Given the description of an element on the screen output the (x, y) to click on. 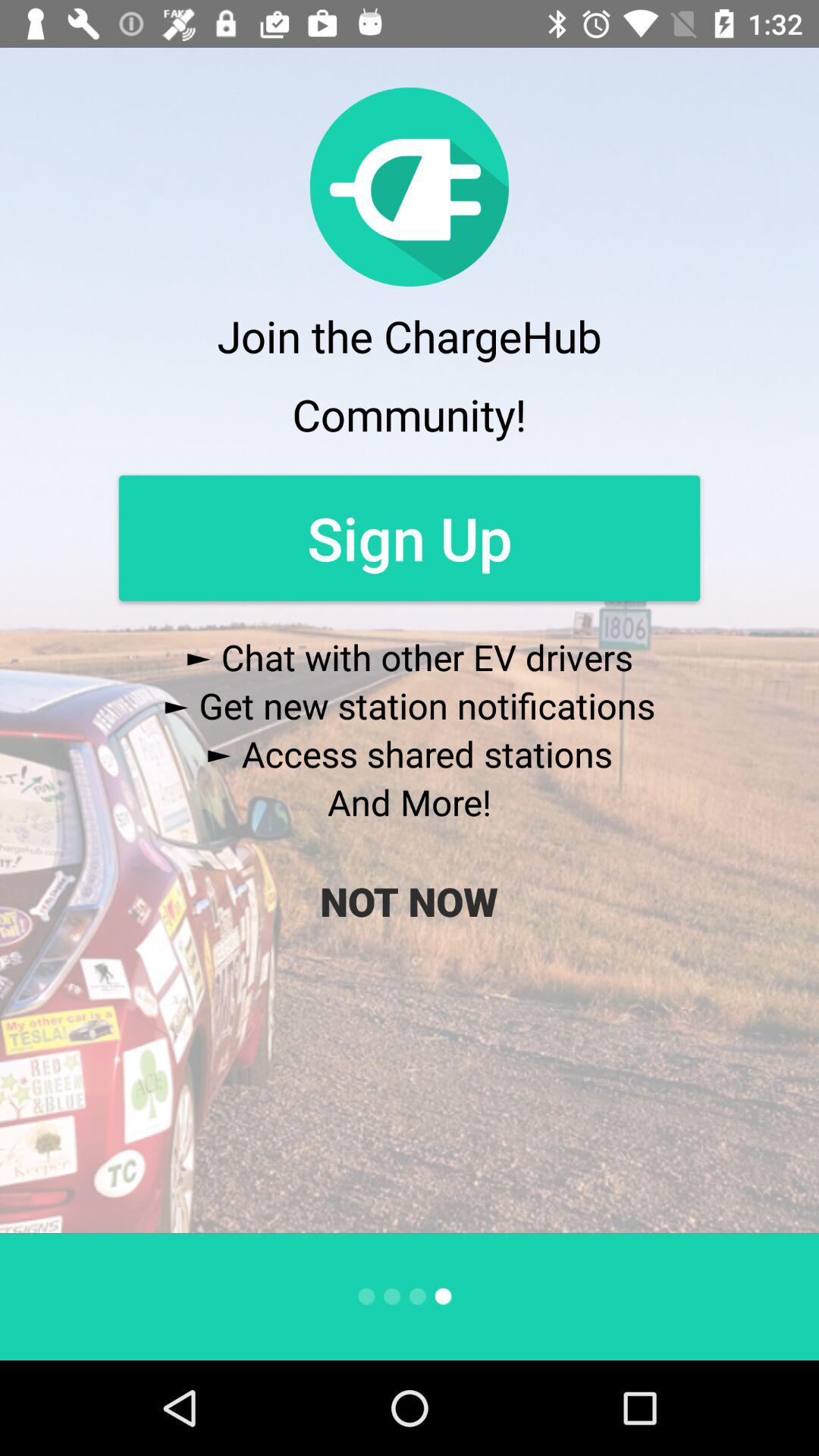
scroll until sign up (409, 538)
